Given the description of an element on the screen output the (x, y) to click on. 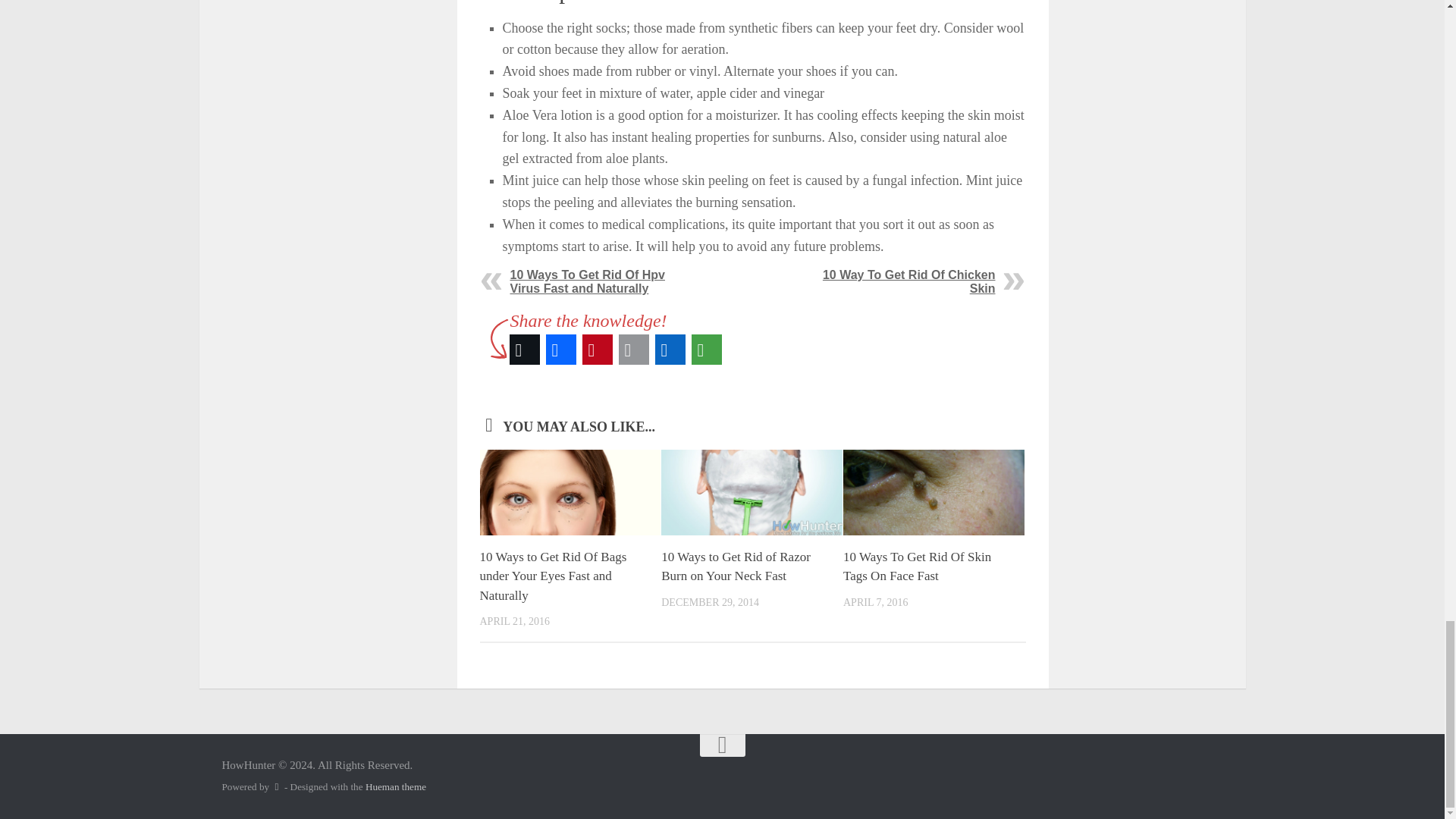
10 Ways To Get Rid Of Hpv Virus Fast and Naturally (586, 281)
Pinterest (597, 349)
Email This (633, 349)
10 Ways to Get Rid of Razor Burn on Your Neck Fast (735, 566)
10 Ways To Get Rid Of Skin Tags On Face Fast (917, 566)
10 Way To Get Rid Of Chicken Skin (908, 281)
Facebook (561, 349)
LinkedIn (670, 349)
More Options (706, 349)
